Given the description of an element on the screen output the (x, y) to click on. 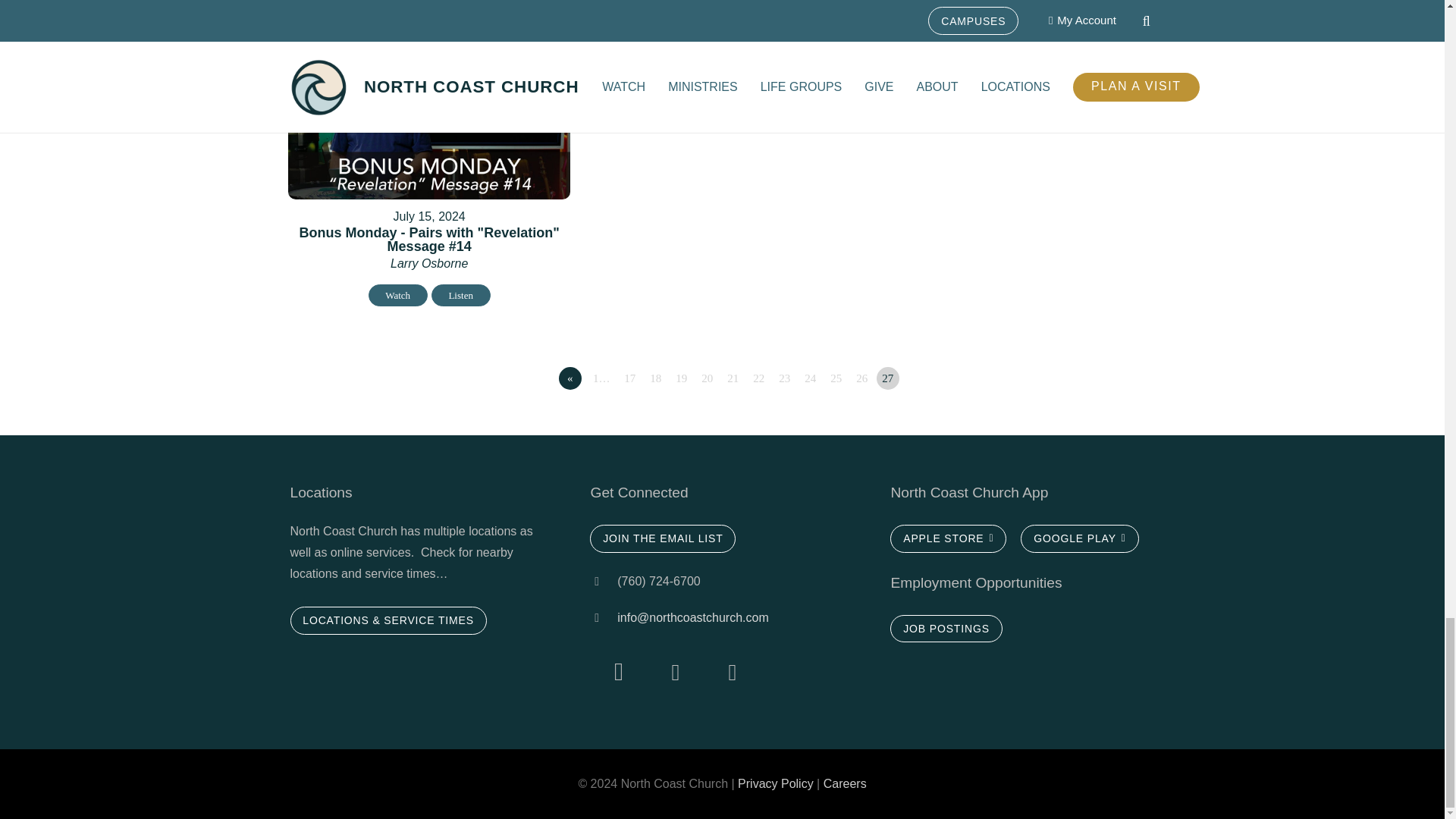
Campuses, Service Times, Locations (387, 619)
Facebook (674, 672)
Subscribe (662, 538)
Campuses, Service Times, Locations (945, 628)
call us at 760-724-6700 (603, 617)
YouTube (731, 672)
Instagram (617, 672)
Apple Store (947, 538)
call us at 760-724-6700 (603, 581)
Google Store (1079, 538)
